Given the description of an element on the screen output the (x, y) to click on. 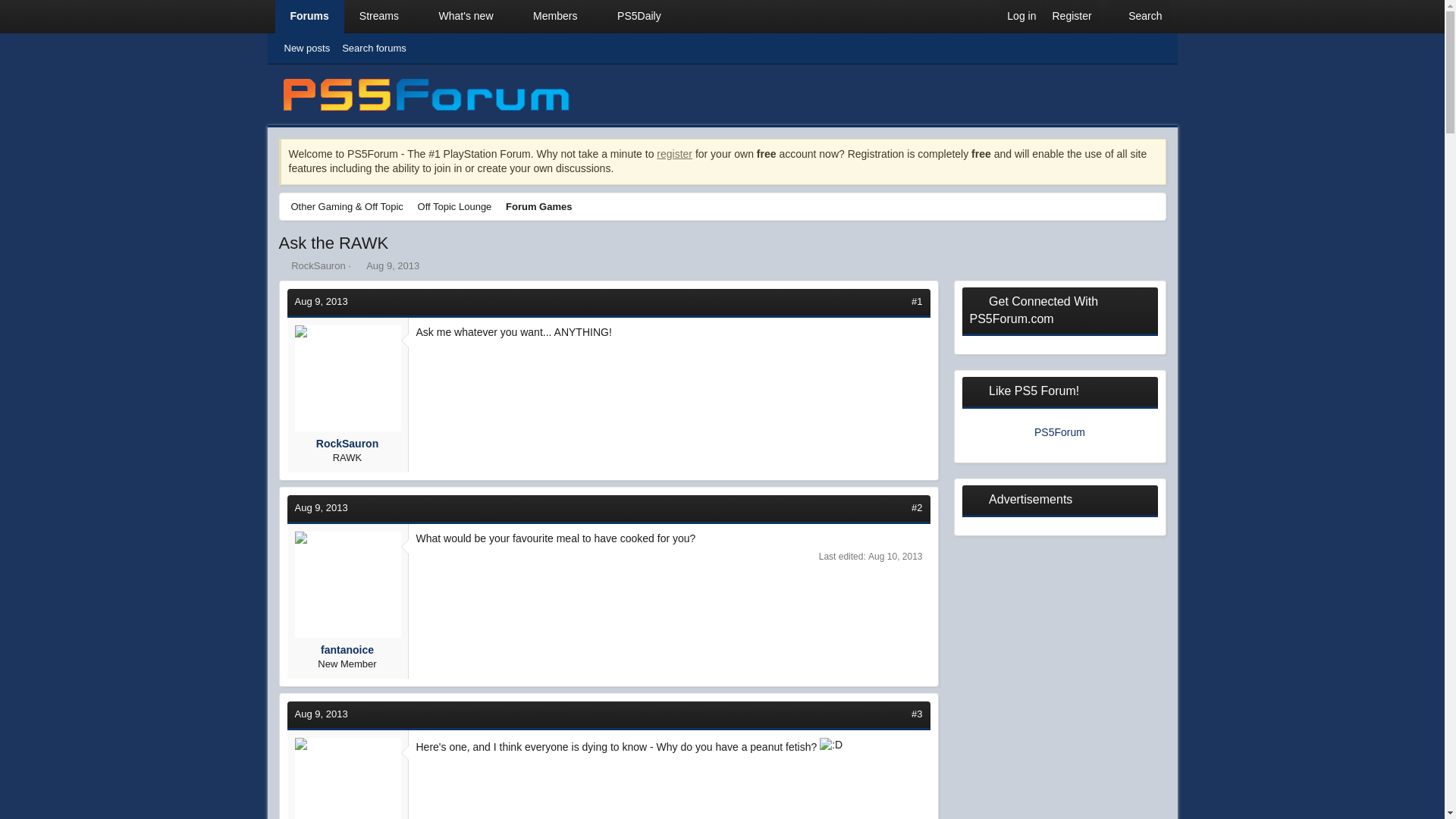
Aug 9, 2013 at 7:18 PM (320, 713)
Register (674, 153)
Aug 9, 2013 at 6:56 PM (320, 507)
Aug 9, 2013 at 6:40 PM (320, 301)
Register (1071, 16)
Search (474, 16)
Thread starter (1137, 16)
New posts (283, 266)
PS5Daily (307, 47)
